Given the description of an element on the screen output the (x, y) to click on. 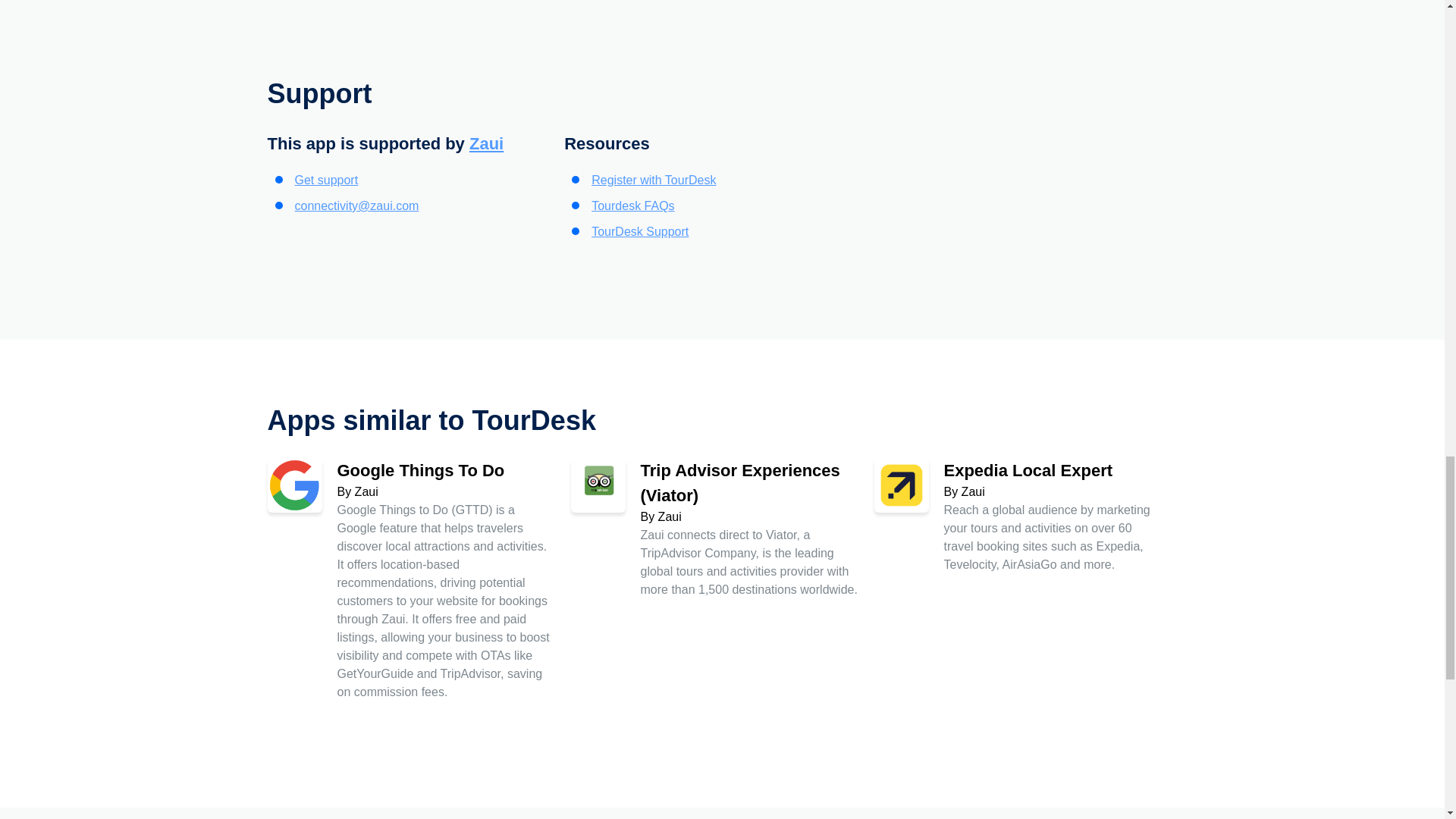
Zaui (485, 143)
Expedia Local Expert (1027, 470)
Register with TourDesk (653, 179)
Google Things To Do (419, 470)
TourDesk Support (639, 231)
Get support (326, 179)
Tourdesk FAQs (632, 205)
